Given the description of an element on the screen output the (x, y) to click on. 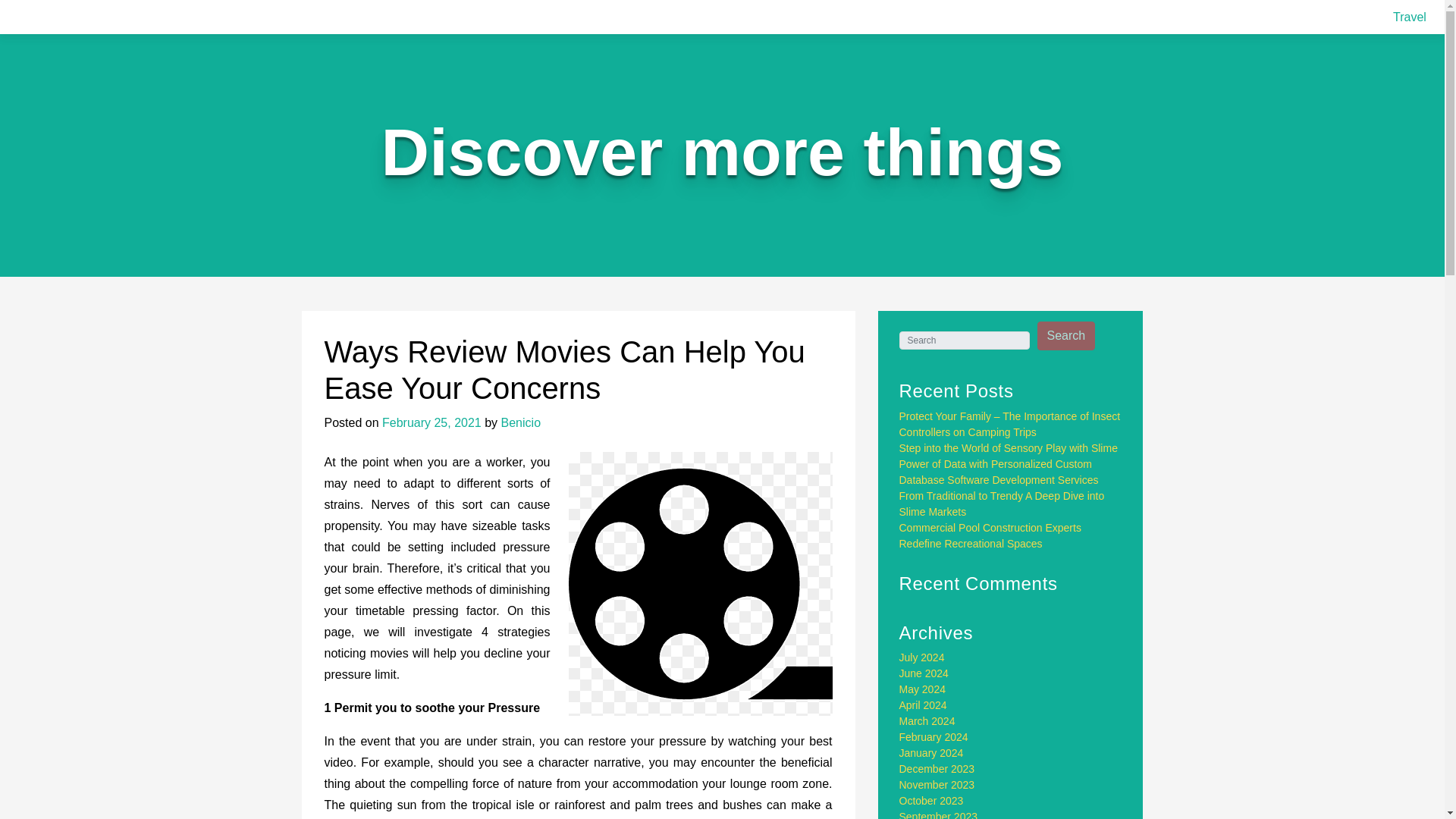
March 2024 (927, 720)
Travel (1409, 16)
November 2023 (937, 784)
May 2024 (921, 689)
Search (1066, 335)
February 25, 2021 (431, 422)
Step into the World of Sensory Play with Slime (1008, 448)
January 2024 (931, 752)
April 2024 (923, 705)
